Given the description of an element on the screen output the (x, y) to click on. 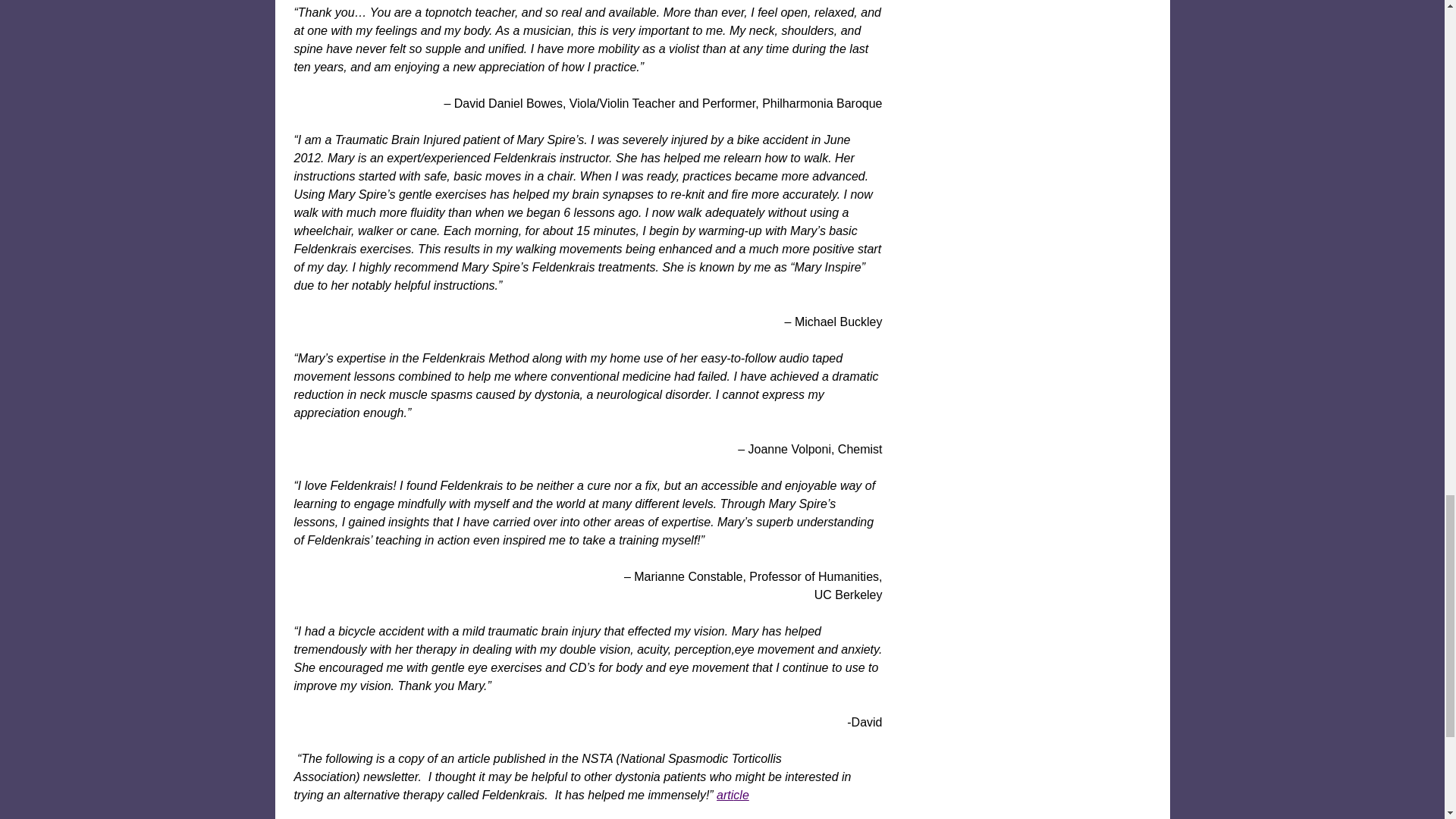
cle (740, 794)
arti (724, 794)
